Given the description of an element on the screen output the (x, y) to click on. 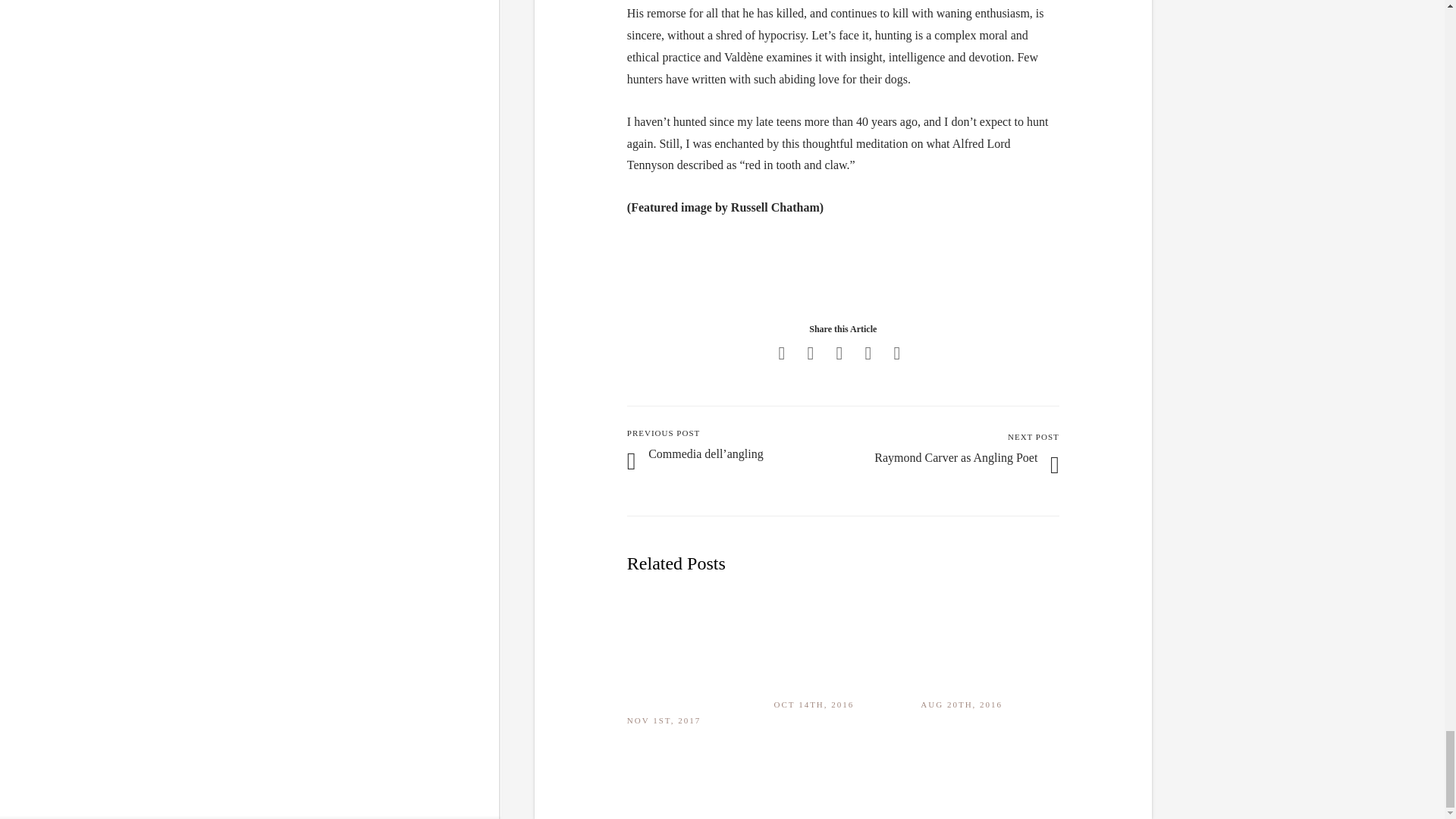
Raymond Carver as Angling Poet (955, 457)
Raymond Carver as Angling Poet (955, 457)
